Given the description of an element on the screen output the (x, y) to click on. 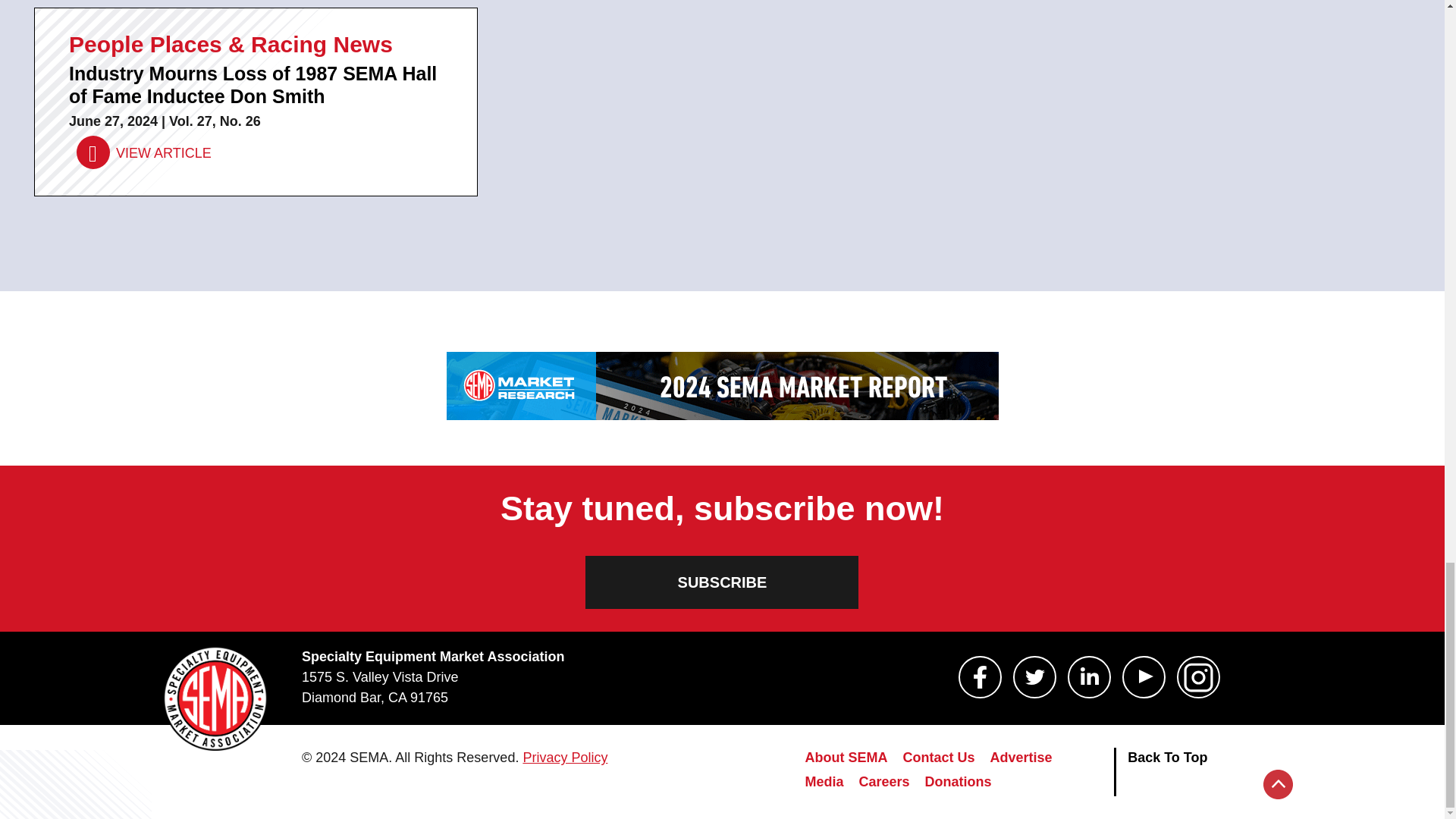
SEMA Instagram Link (1198, 677)
SEMA Facebook Link (979, 677)
SEMA LinkedIn Link (1088, 677)
Privacy Policy (564, 757)
VIEW ARTICLE (143, 153)
SEMA MR Market Reports 2024 (721, 386)
SEMA Twitter Link (1035, 677)
SUBSCRIBE (722, 582)
SEMA YouTube Link (1144, 677)
